Given the description of an element on the screen output the (x, y) to click on. 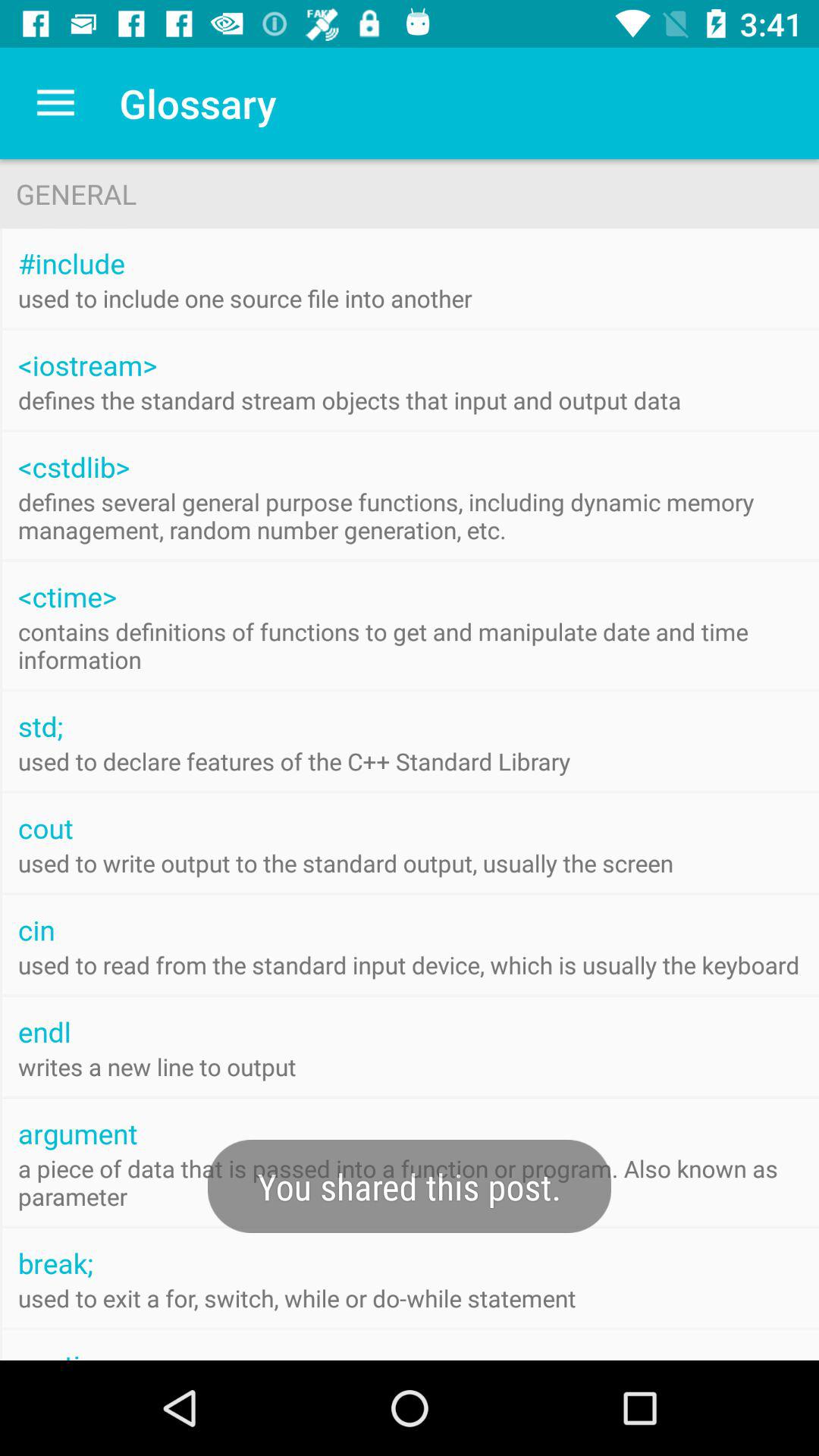
tap the icon to the left of glossary item (55, 103)
